Given the description of an element on the screen output the (x, y) to click on. 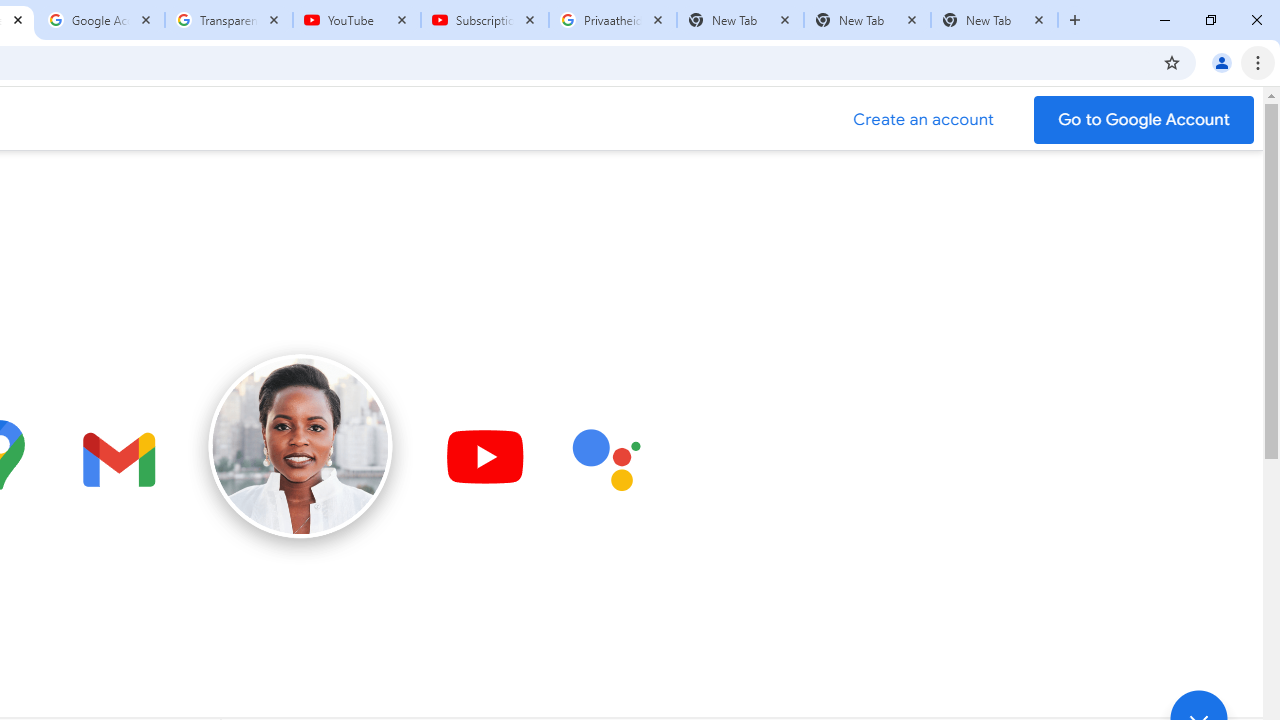
Google Account (101, 20)
Subscriptions - YouTube (485, 20)
New Tab (994, 20)
Create a Google Account (923, 119)
YouTube (357, 20)
